Given the description of an element on the screen output the (x, y) to click on. 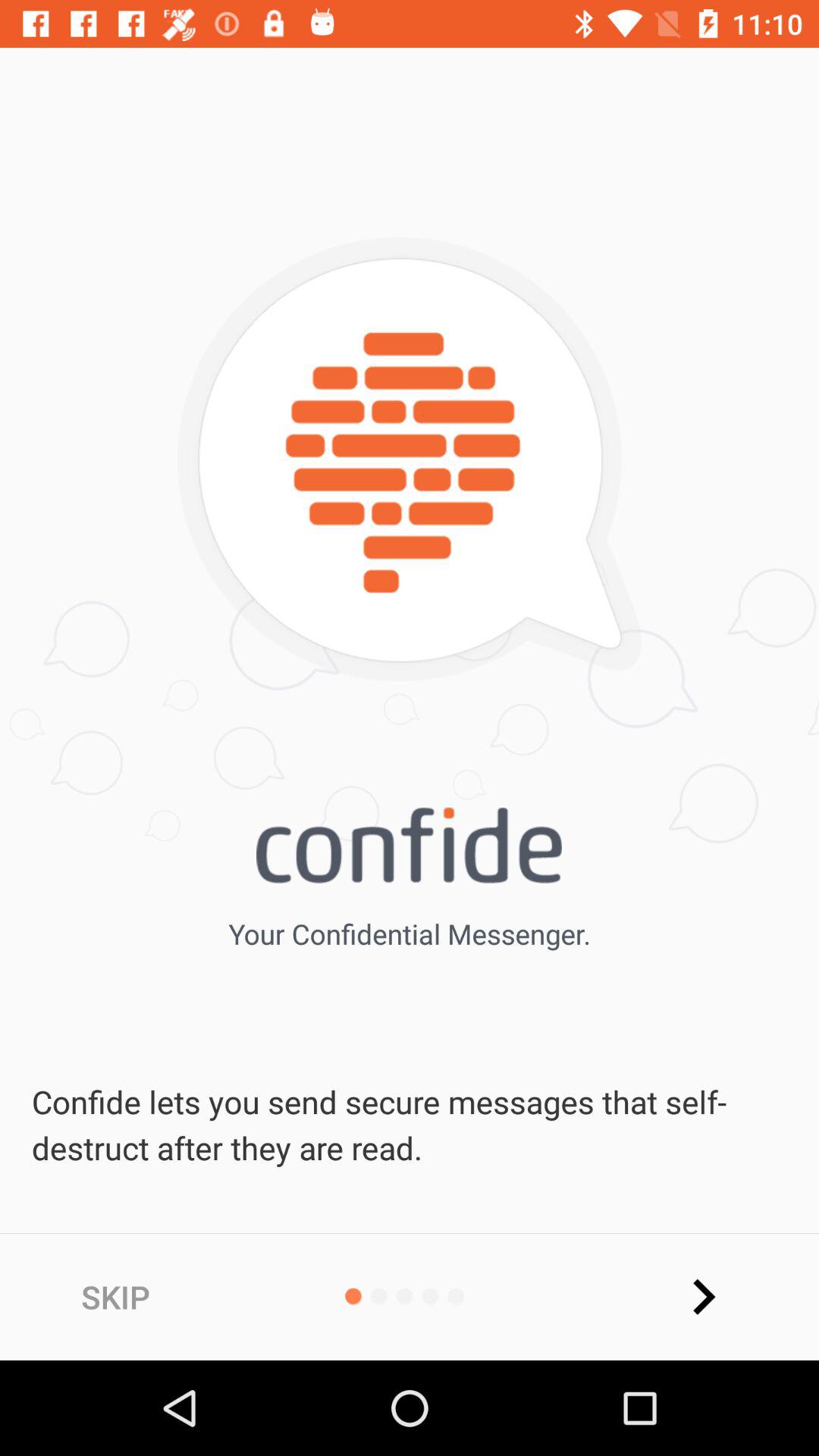
press the skip (114, 1296)
